Given the description of an element on the screen output the (x, y) to click on. 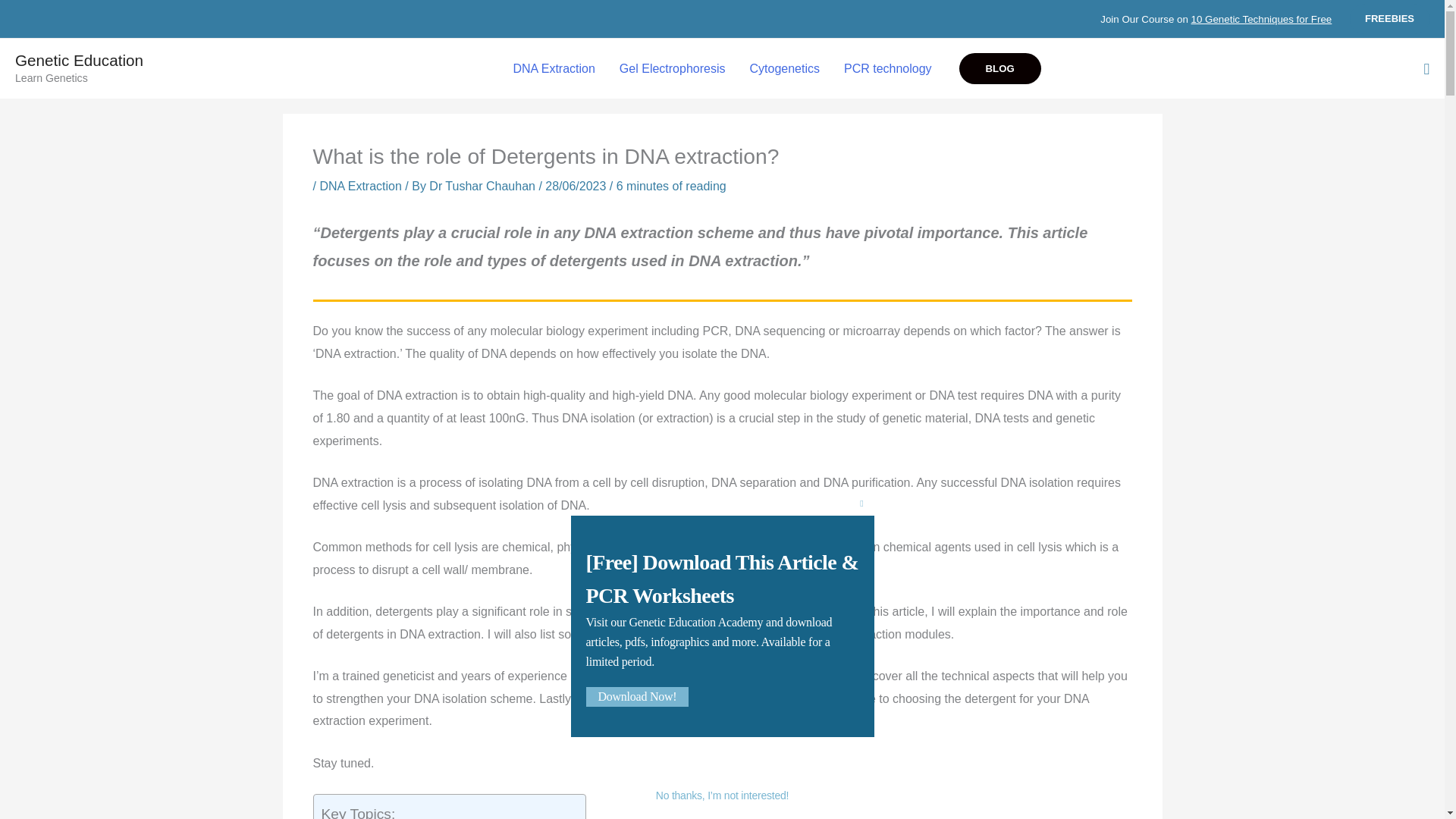
10 Genetic Techniques for Free (1261, 19)
Cytogenetics (783, 68)
FREEBIES (1389, 19)
DNA Extraction (359, 185)
Gel Electrophoresis (672, 68)
BLOG (1000, 68)
Genetic Education (78, 59)
DNA Extraction (553, 68)
PCR technology (887, 68)
Dr Tushar Chauhan (482, 185)
nucleic acid isolation (638, 675)
View all posts by Dr Tushar Chauhan (482, 185)
